Given the description of an element on the screen output the (x, y) to click on. 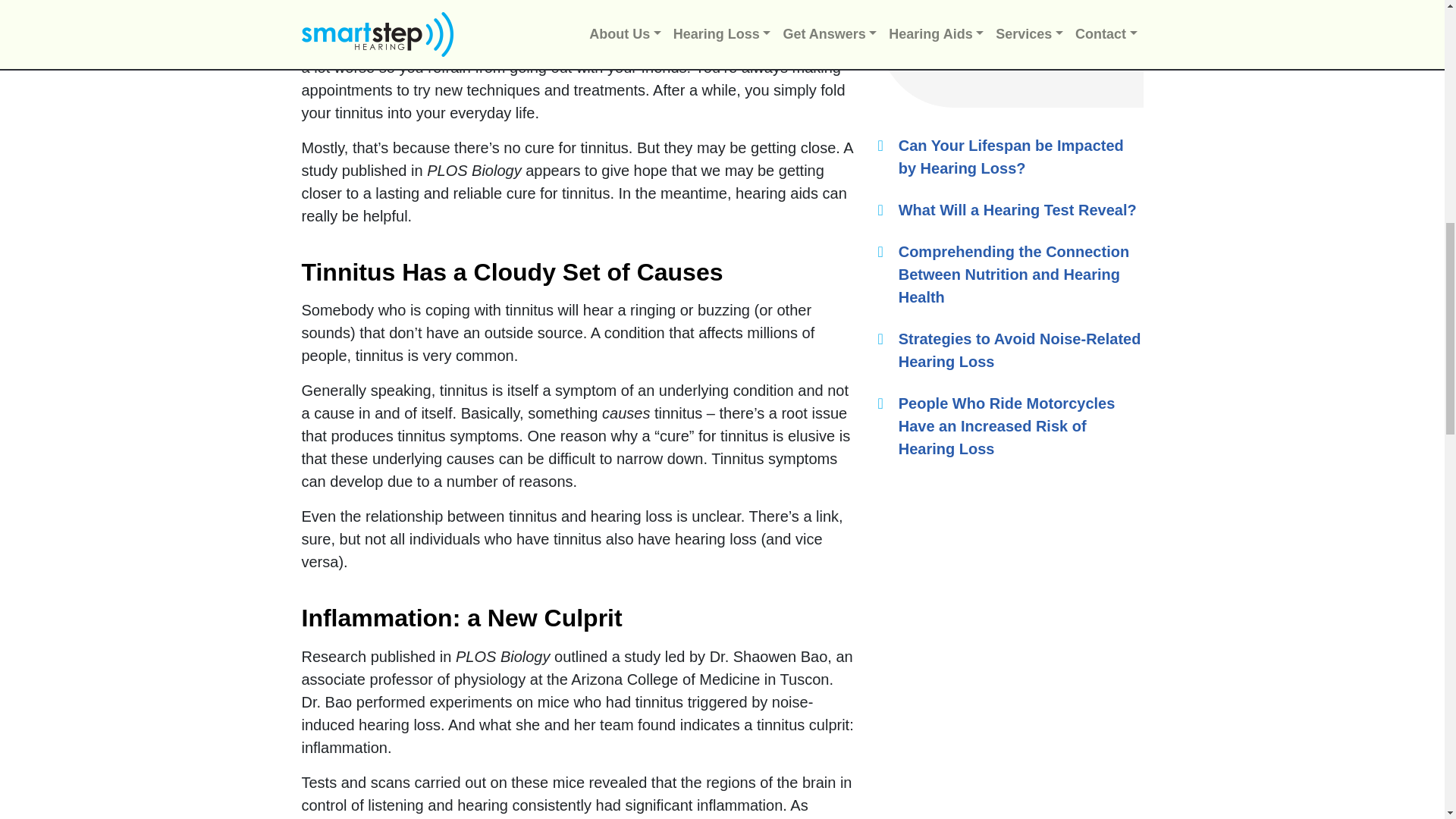
Send (1010, 20)
